Given the description of an element on the screen output the (x, y) to click on. 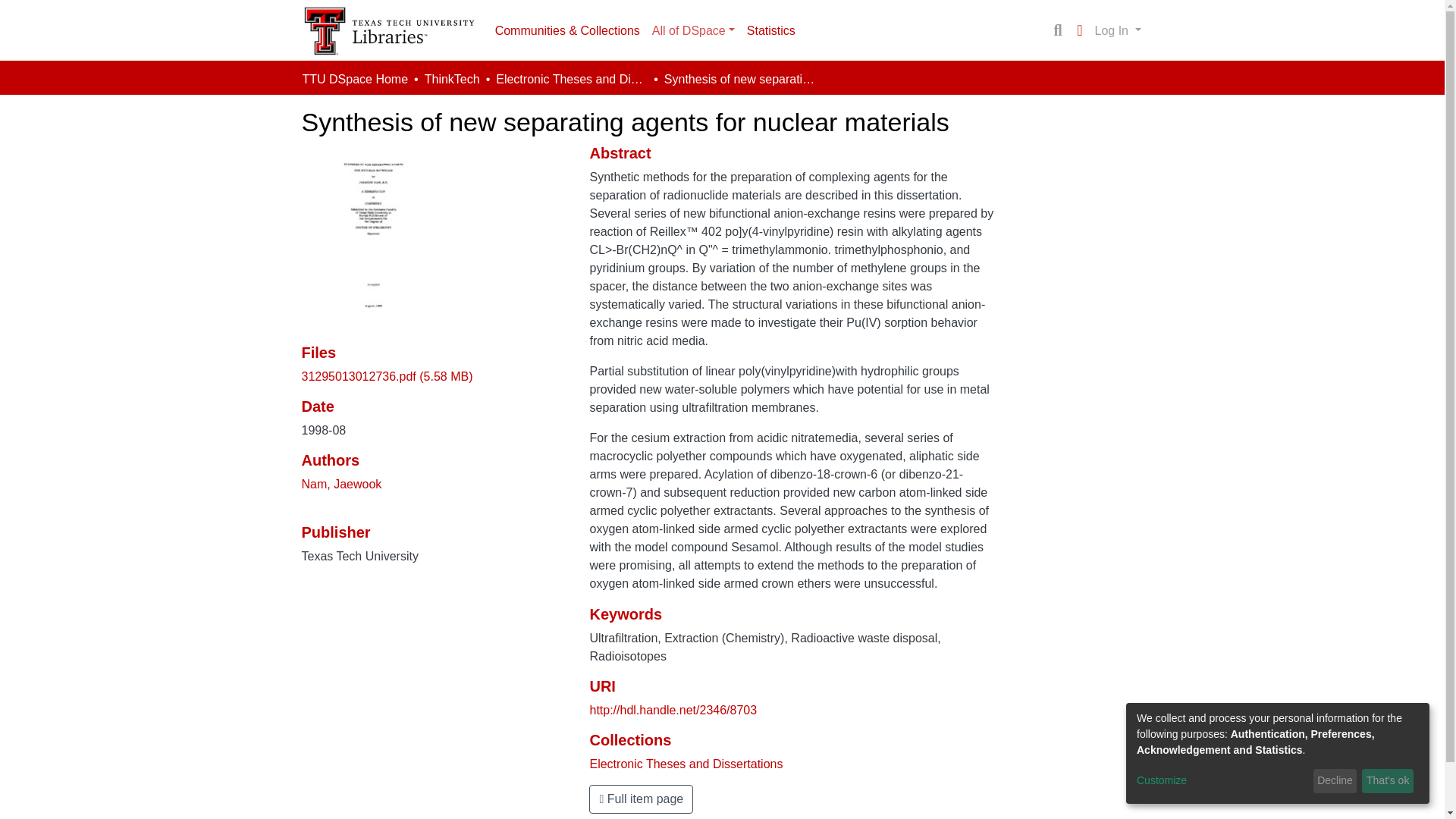
Electronic Theses and Dissertations (571, 79)
ThinkTech (452, 79)
Statistics (771, 30)
Search (1057, 30)
Full item page (641, 799)
Statistics (771, 30)
Log In (1117, 30)
All of DSpace (693, 30)
Nam, Jaewook (341, 483)
Language switch (1079, 30)
